Given the description of an element on the screen output the (x, y) to click on. 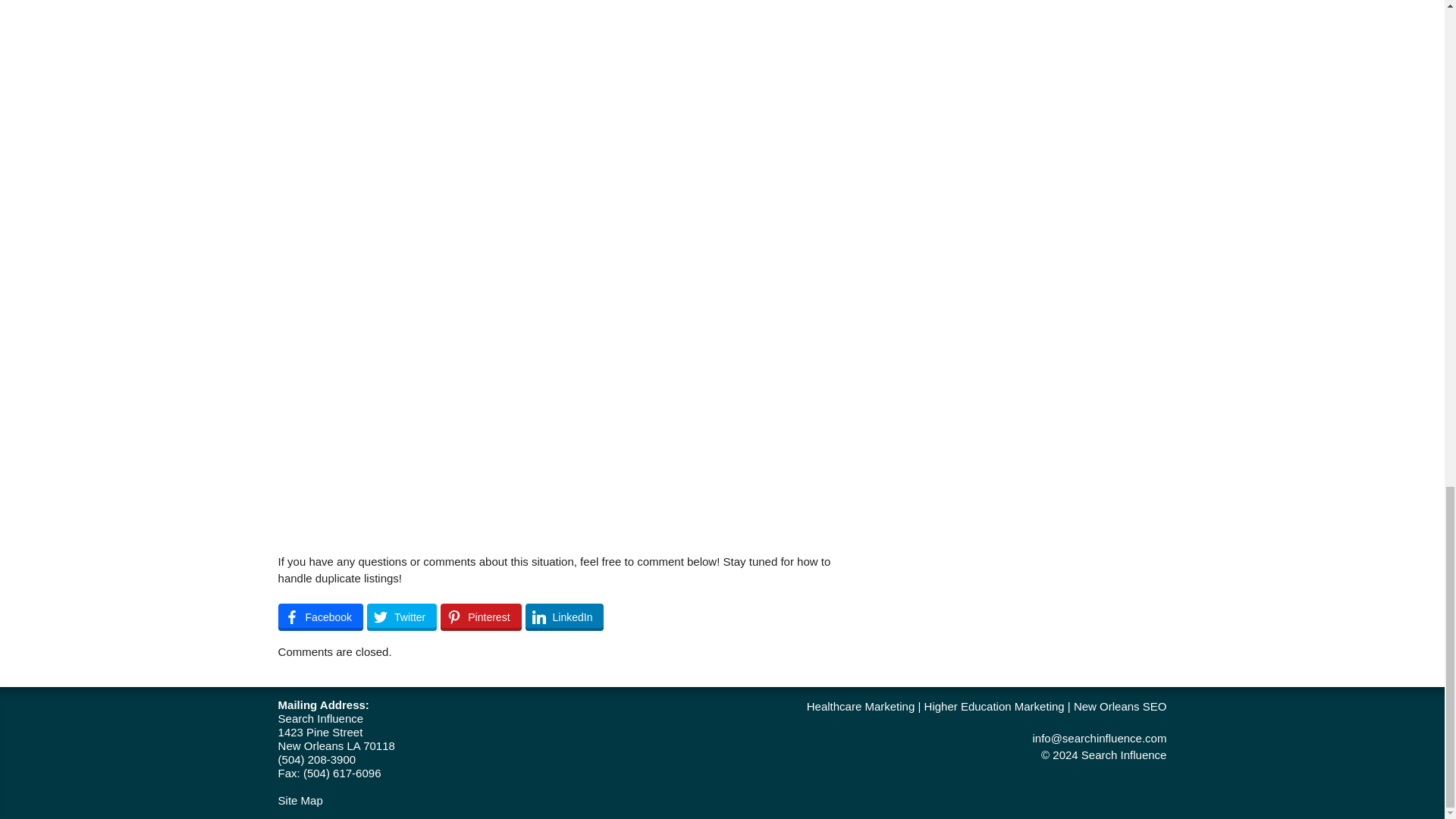
Site Map (300, 799)
Share on Twitter (401, 616)
Share on Pinterest (481, 616)
Share on LinkedIn (564, 616)
Share on Facebook (320, 616)
